Given the description of an element on the screen output the (x, y) to click on. 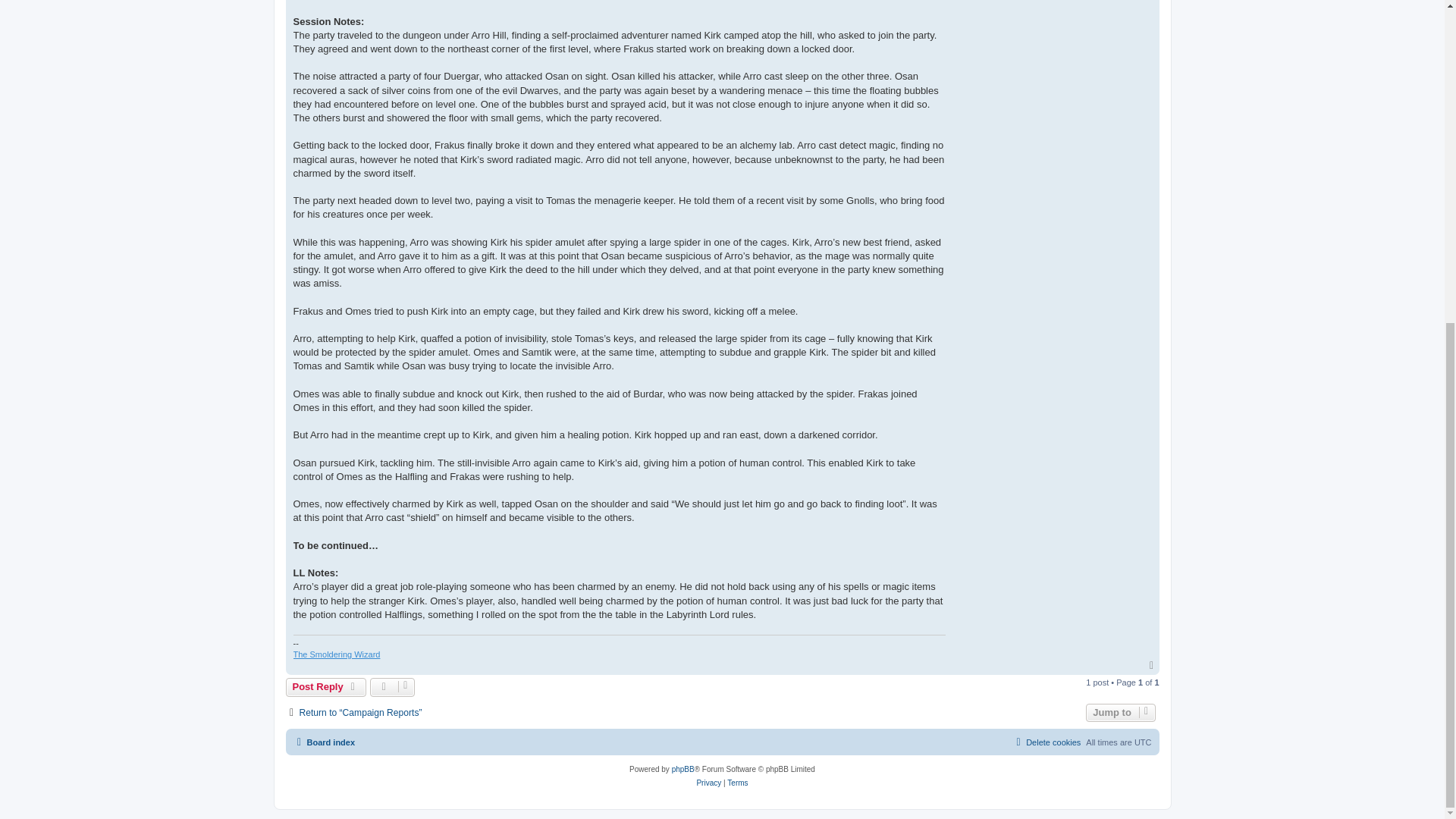
The Smoldering Wizard (336, 654)
Top (1151, 665)
Post Reply (325, 687)
